Given the description of an element on the screen output the (x, y) to click on. 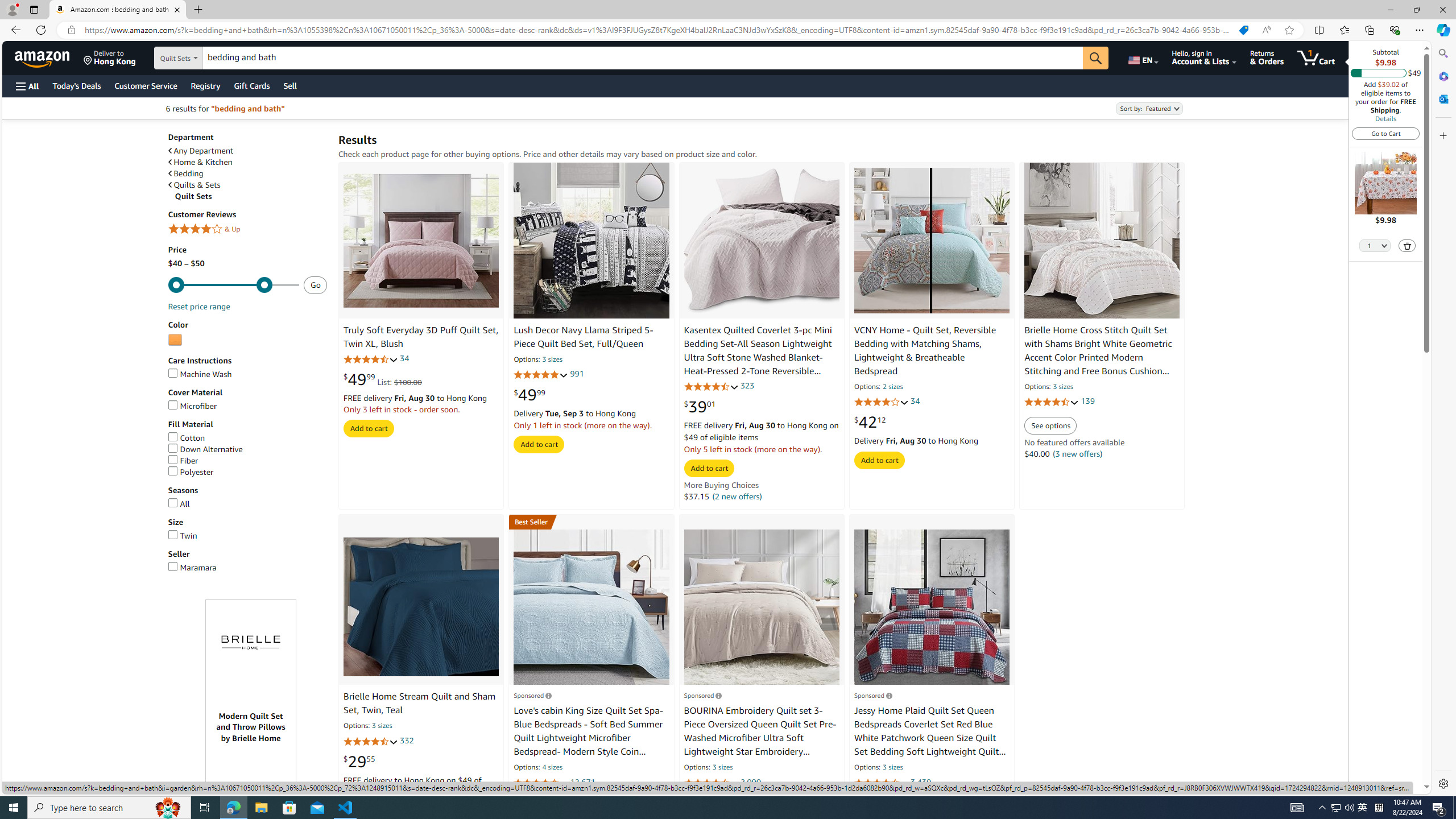
2 sizes (892, 387)
Quilts & Sets (194, 184)
$49.99 (529, 394)
Down Alternative (247, 449)
$41.99 (700, 802)
Machine Wash (247, 374)
Bedding (185, 173)
Sell (290, 85)
$39.01 (700, 406)
Skip to main content (48, 56)
Gift Cards (251, 85)
